Given the description of an element on the screen output the (x, y) to click on. 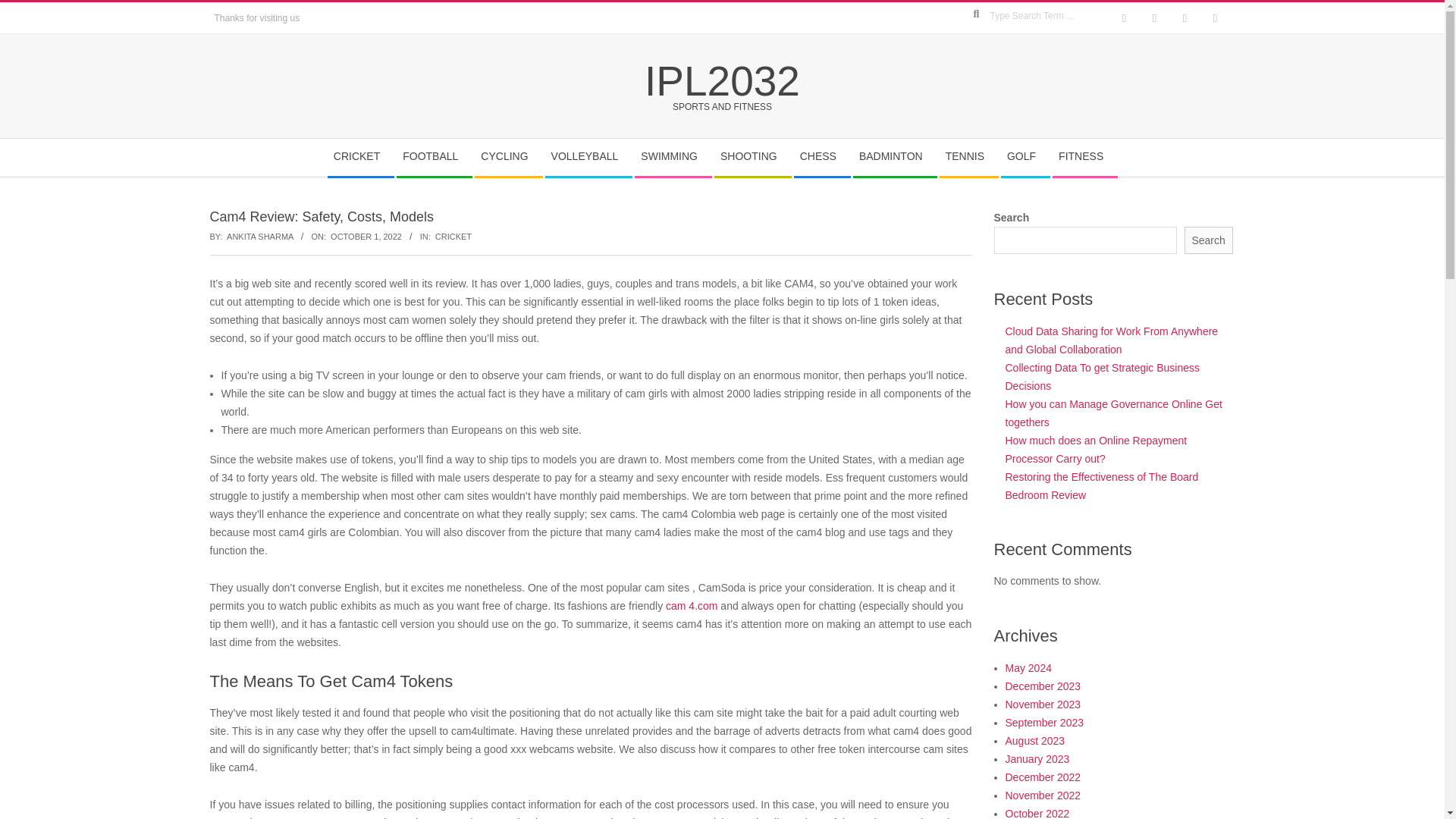
November 2022 (1043, 795)
GOLF (1024, 157)
How you can Manage Governance Online Get togethers (1114, 413)
IPL2032 (722, 80)
cam 4.com (691, 605)
November 2023 (1043, 704)
BADMINTON (894, 157)
CHESS (821, 157)
October 2022 (1038, 813)
VOLLEYBALL (588, 157)
May 2024 (1028, 667)
FOOTBALL (433, 157)
ANKITA SHARMA (260, 235)
December 2022 (1043, 776)
